Given the description of an element on the screen output the (x, y) to click on. 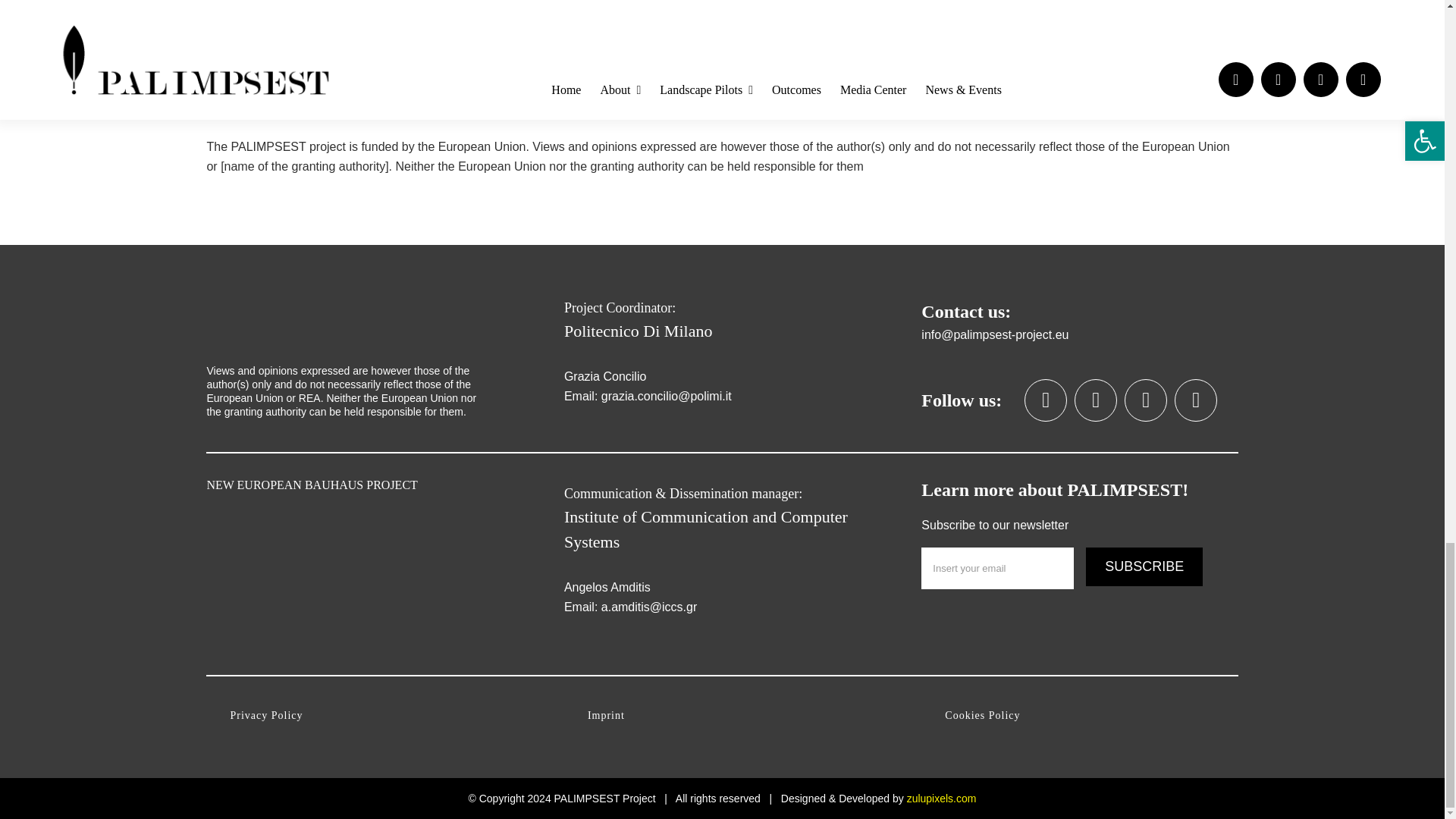
LinkedIn (1095, 400)
X (1046, 400)
Subscribe (1144, 566)
EN-Funded-by-the-EU-NEG (346, 321)
